Given the description of an element on the screen output the (x, y) to click on. 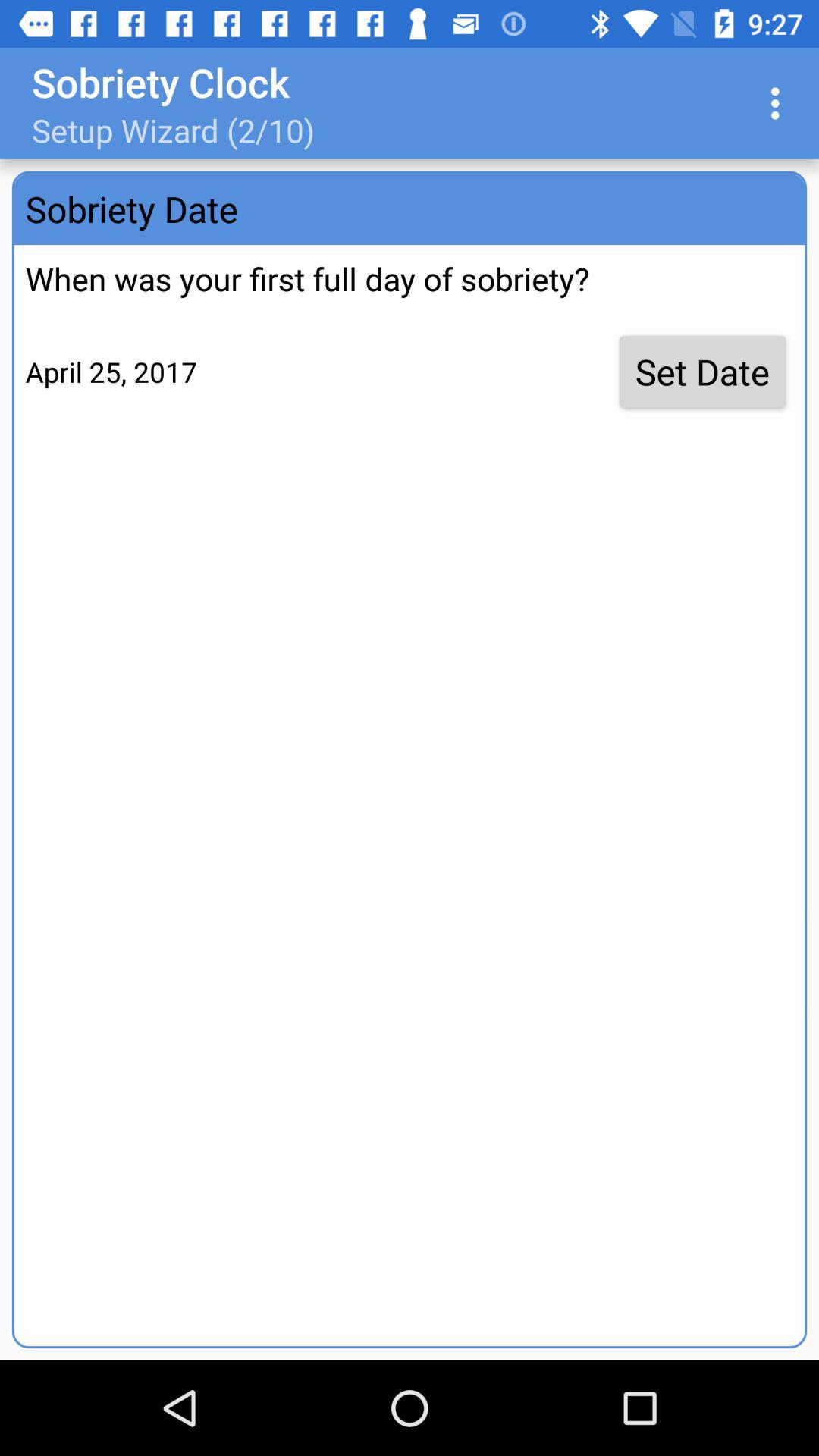
open set date item (702, 371)
